Given the description of an element on the screen output the (x, y) to click on. 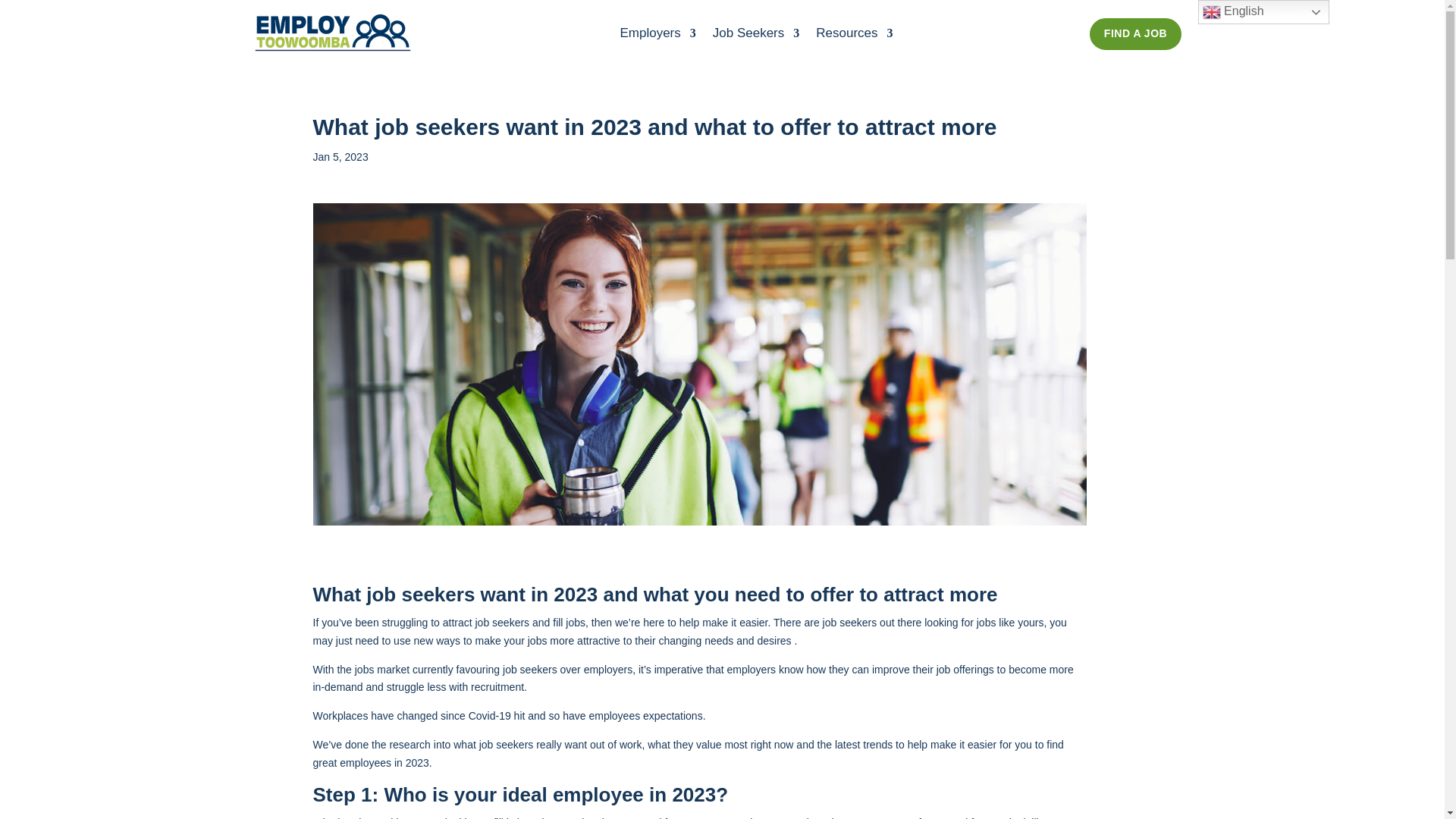
Job Seekers (756, 36)
Employers (657, 36)
Resources (853, 36)
